Given the description of an element on the screen output the (x, y) to click on. 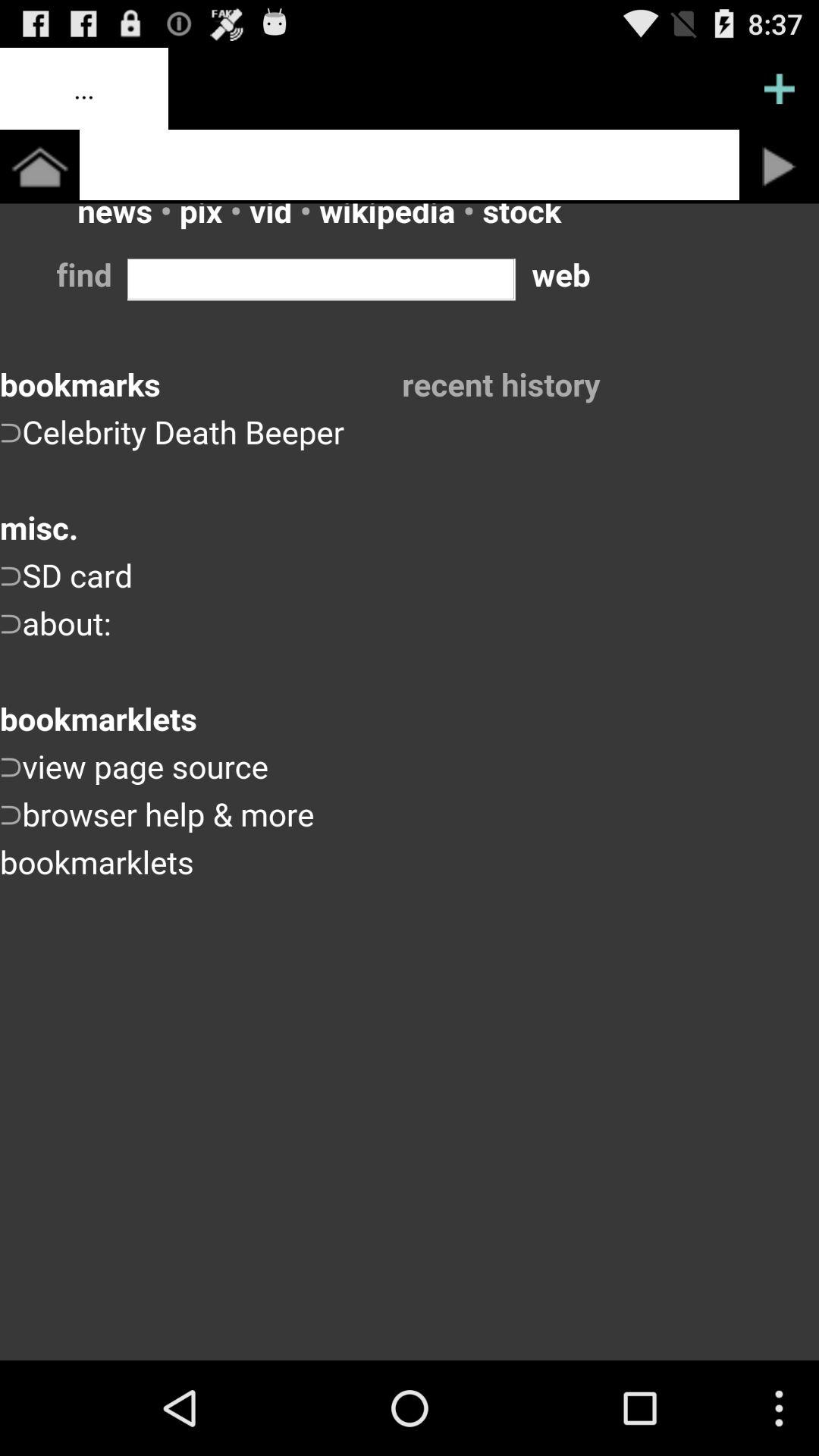
add page (779, 88)
